Given the description of an element on the screen output the (x, y) to click on. 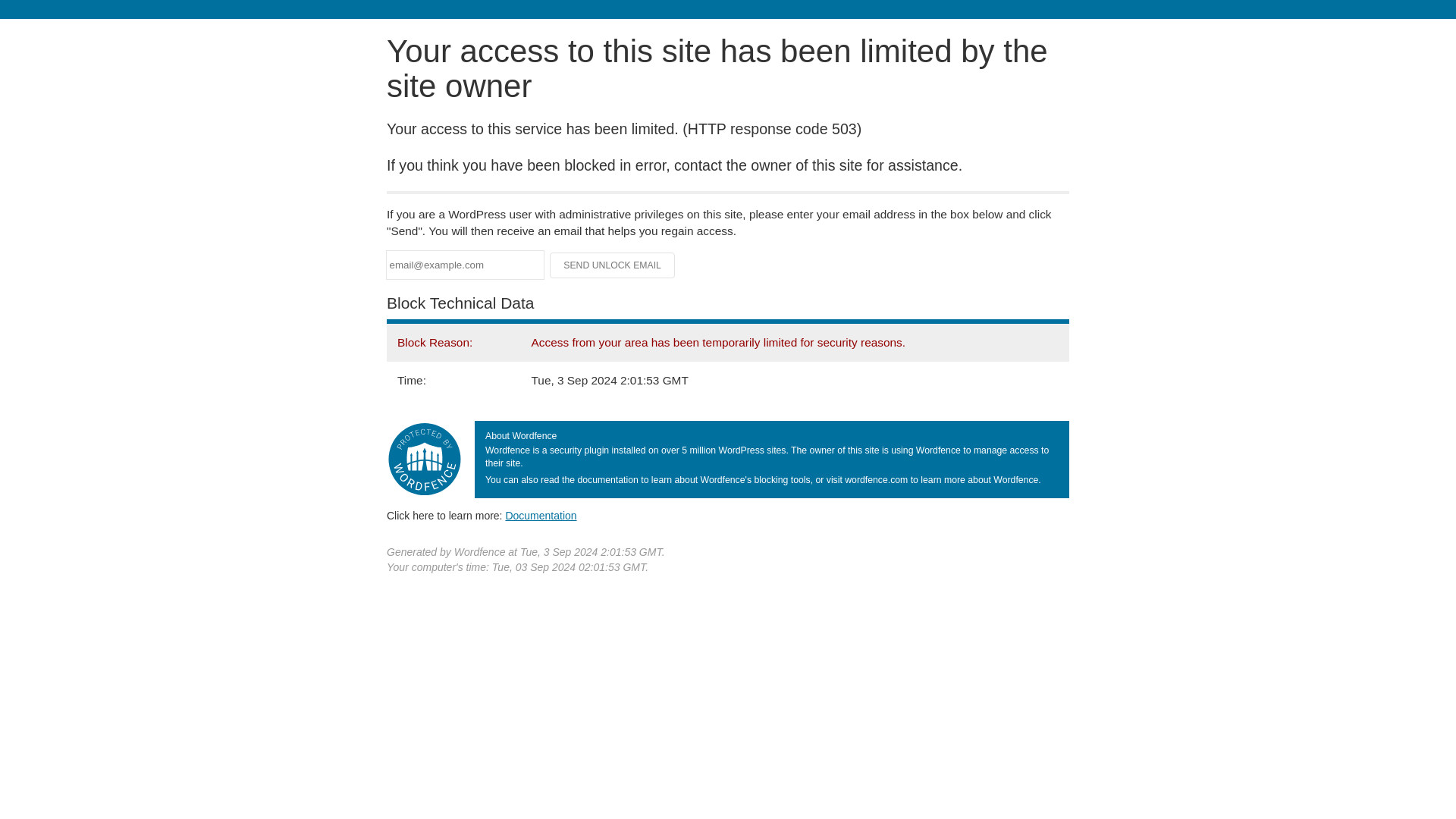
Send Unlock Email (612, 265)
Send Unlock Email (612, 265)
Documentation (540, 515)
